Given the description of an element on the screen output the (x, y) to click on. 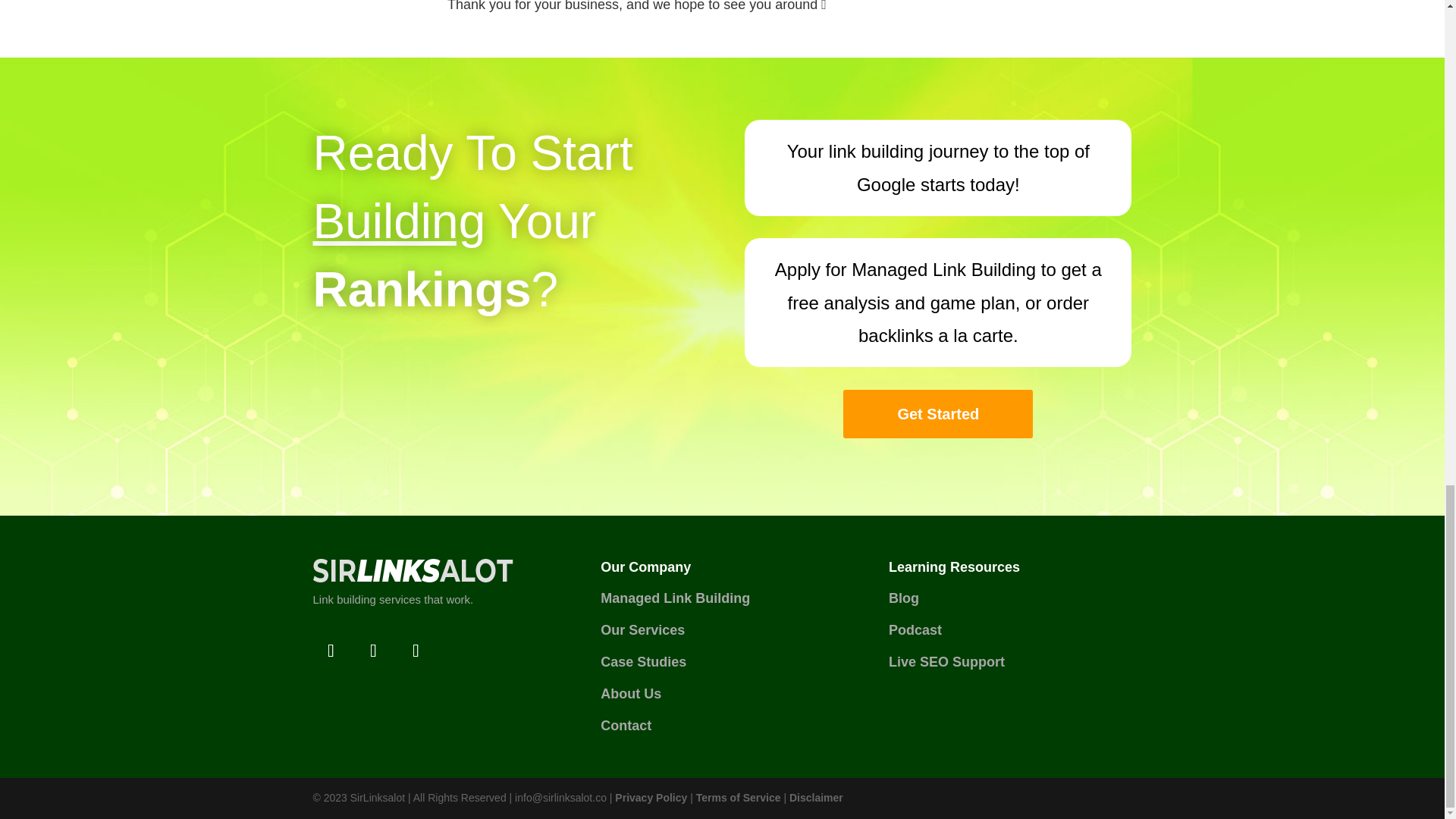
Follow on X (373, 650)
Follow on Youtube (415, 650)
Follow on Facebook (331, 650)
